Given the description of an element on the screen output the (x, y) to click on. 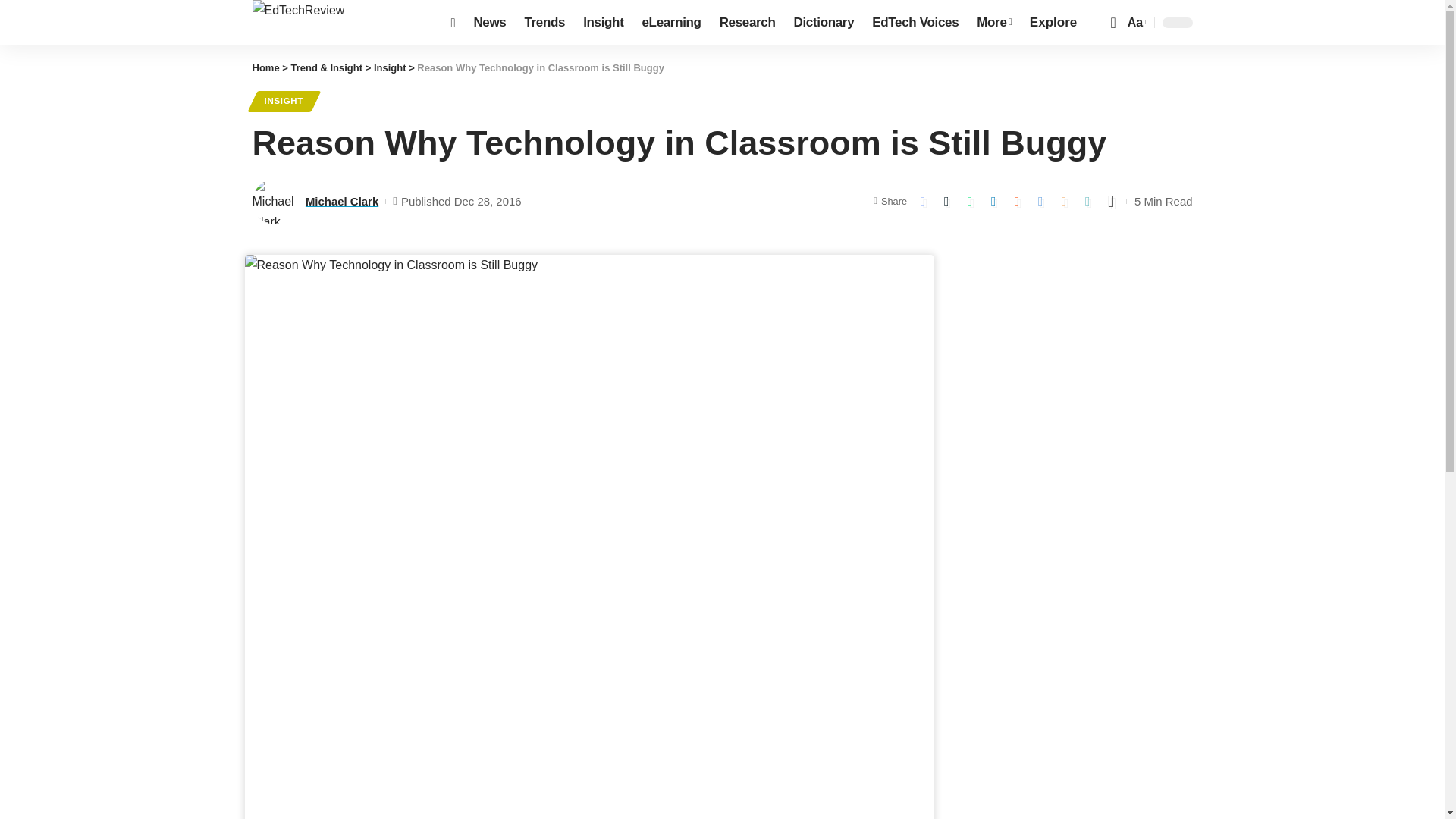
Go to EdTechReview. (265, 67)
Trends (544, 22)
Go to the Insight Category archives. (390, 67)
News (489, 22)
More (994, 22)
Insight (602, 22)
Research (747, 22)
eLearning (670, 22)
EdTechReview (338, 22)
